Given the description of an element on the screen output the (x, y) to click on. 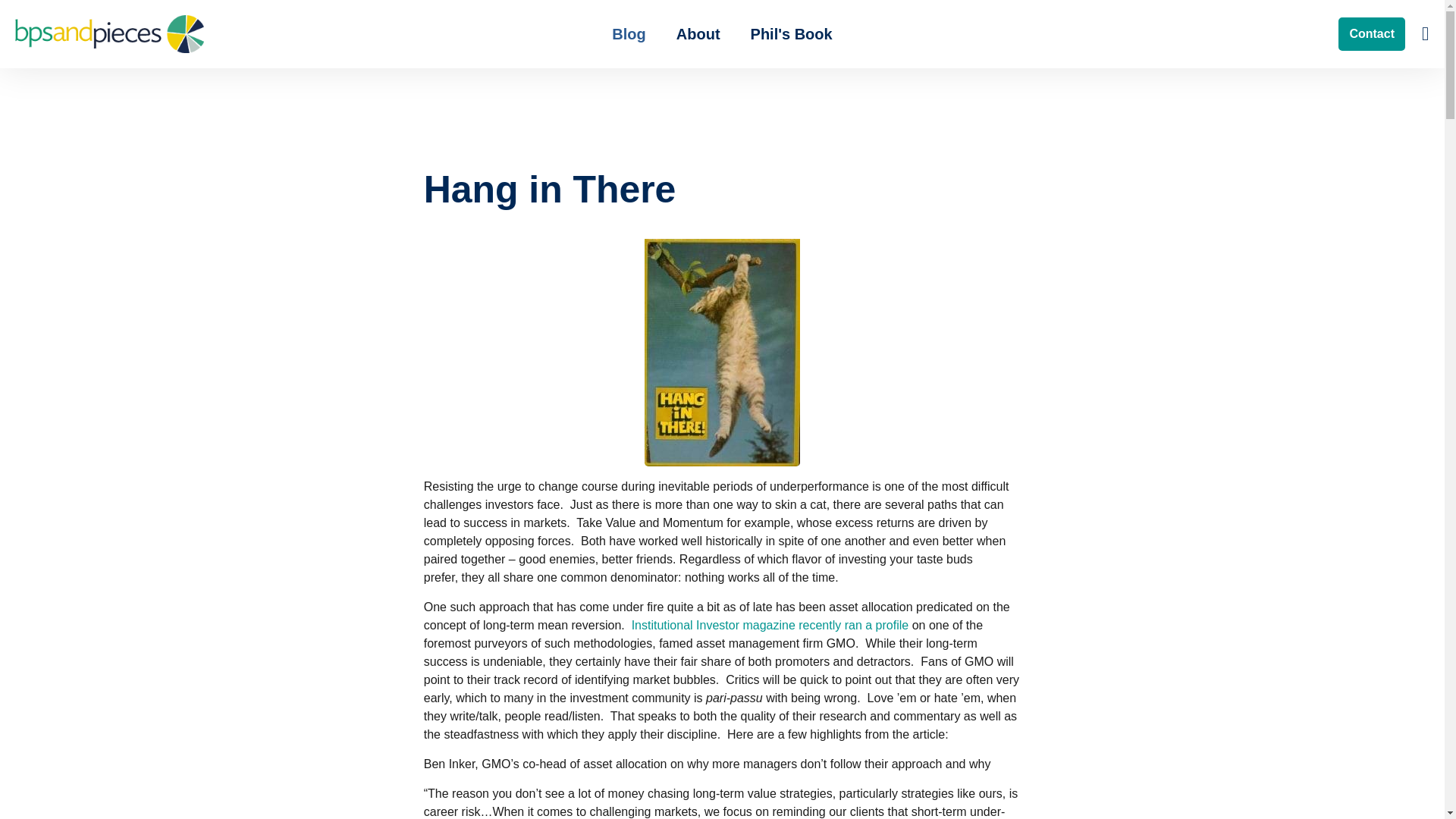
bps and pieces (108, 34)
Skip to main content (721, 16)
Blog (628, 33)
Institutional Investor magazine recently ran a profile (769, 625)
Phil's Book (791, 33)
About (698, 33)
Contact (1371, 33)
